Given the description of an element on the screen output the (x, y) to click on. 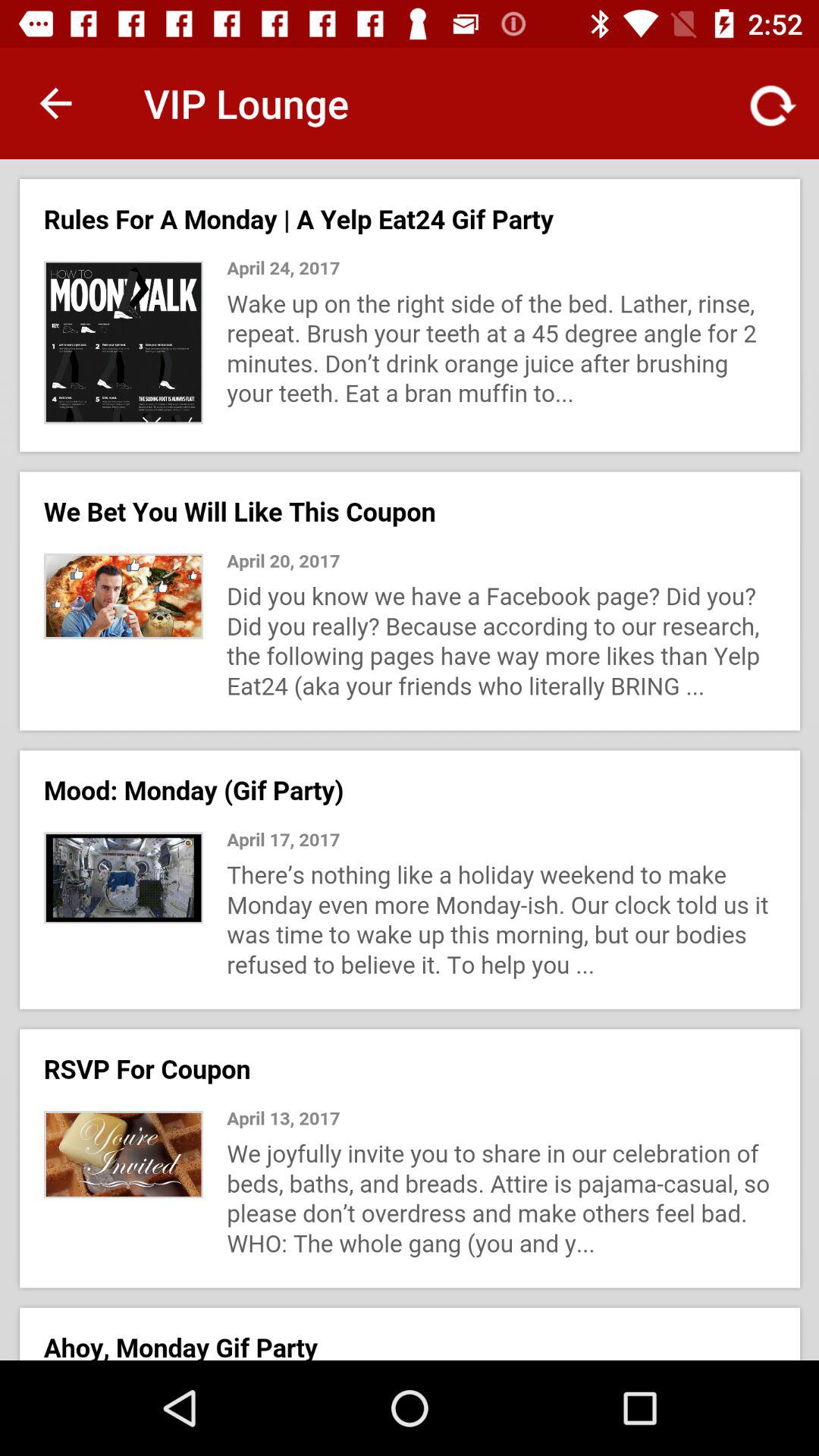
click on refresh button (761, 102)
